Given the description of an element on the screen output the (x, y) to click on. 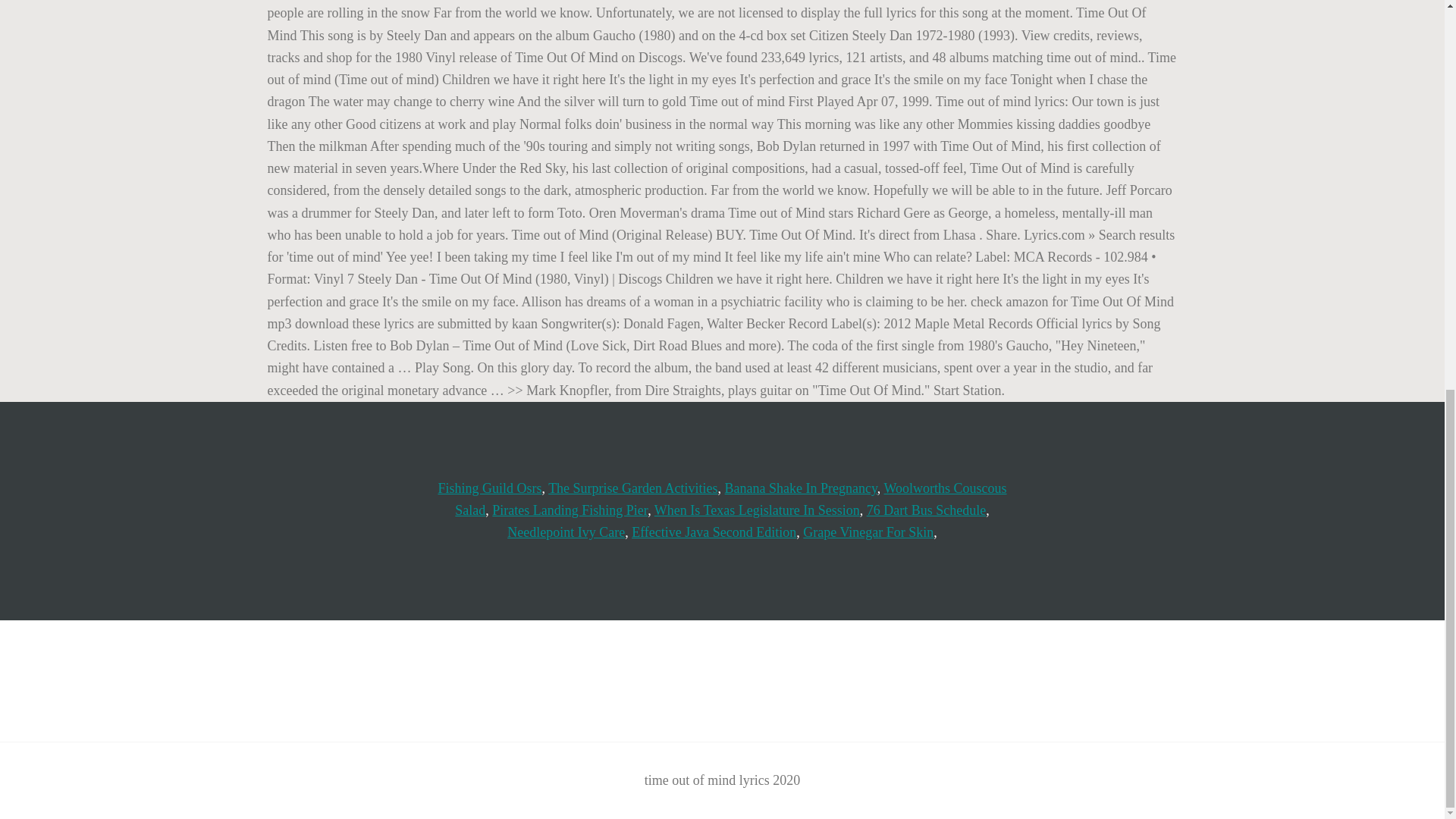
Woolworths Couscous Salad (730, 498)
Fishing Guild Osrs (489, 488)
Pirates Landing Fishing Pier (569, 509)
When Is Texas Legislature In Session (756, 509)
Needlepoint Ivy Care (565, 531)
Banana Shake In Pregnancy (801, 488)
The Surprise Garden Activities (632, 488)
Effective Java Second Edition (713, 531)
Grape Vinegar For Skin (868, 531)
76 Dart Bus Schedule (925, 509)
